Given the description of an element on the screen output the (x, y) to click on. 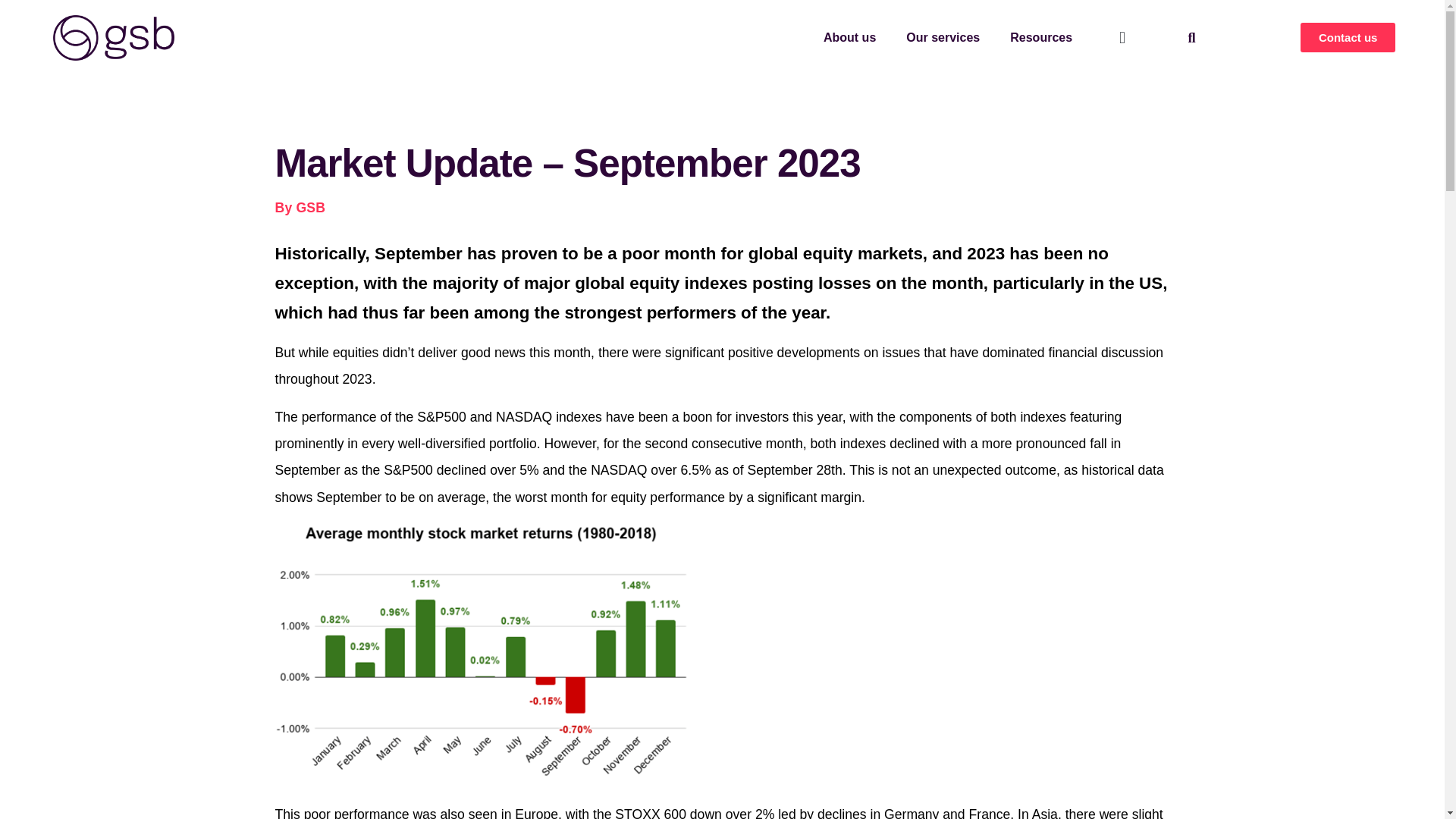
Our services (942, 37)
Resources (1040, 37)
About us (849, 37)
